Given the description of an element on the screen output the (x, y) to click on. 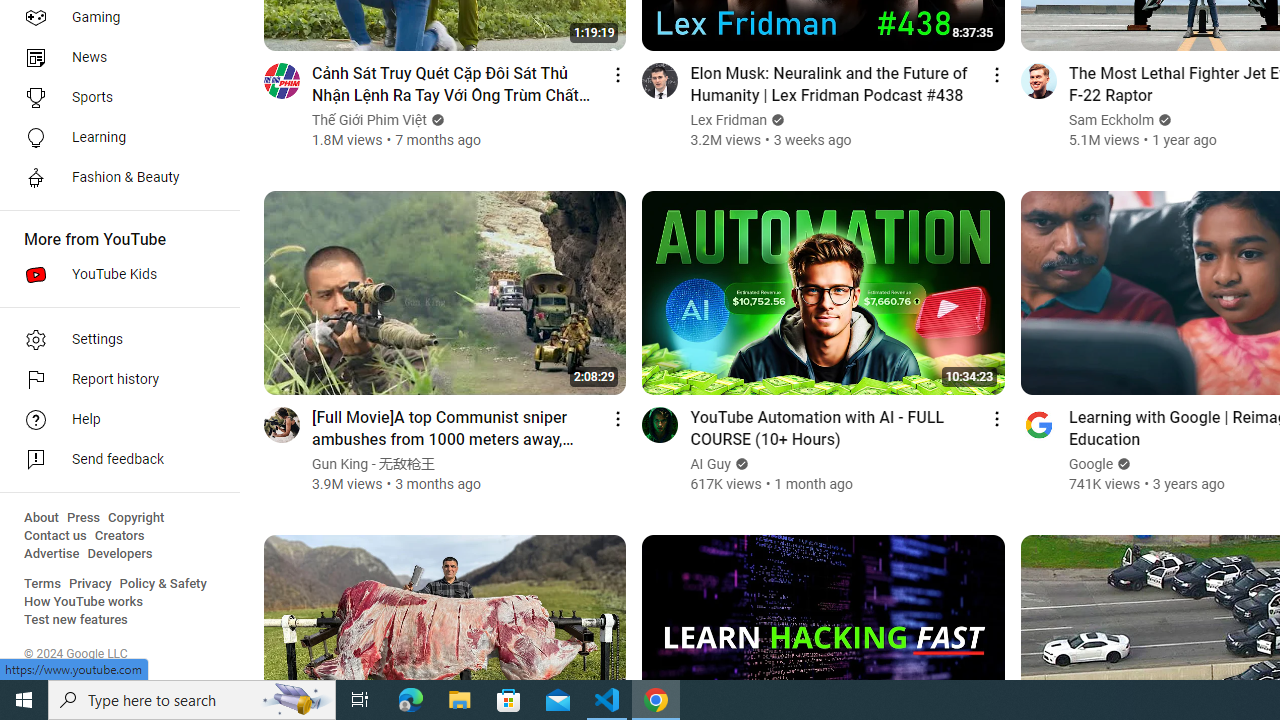
Policy & Safety (163, 584)
AI Guy (711, 464)
Send feedback (113, 459)
Creators (118, 536)
Test new features (76, 620)
Sam Eckholm (1111, 120)
Contact us (55, 536)
Press (83, 518)
Sports (113, 97)
YouTube Kids (113, 274)
How YouTube works (83, 602)
